Given the description of an element on the screen output the (x, y) to click on. 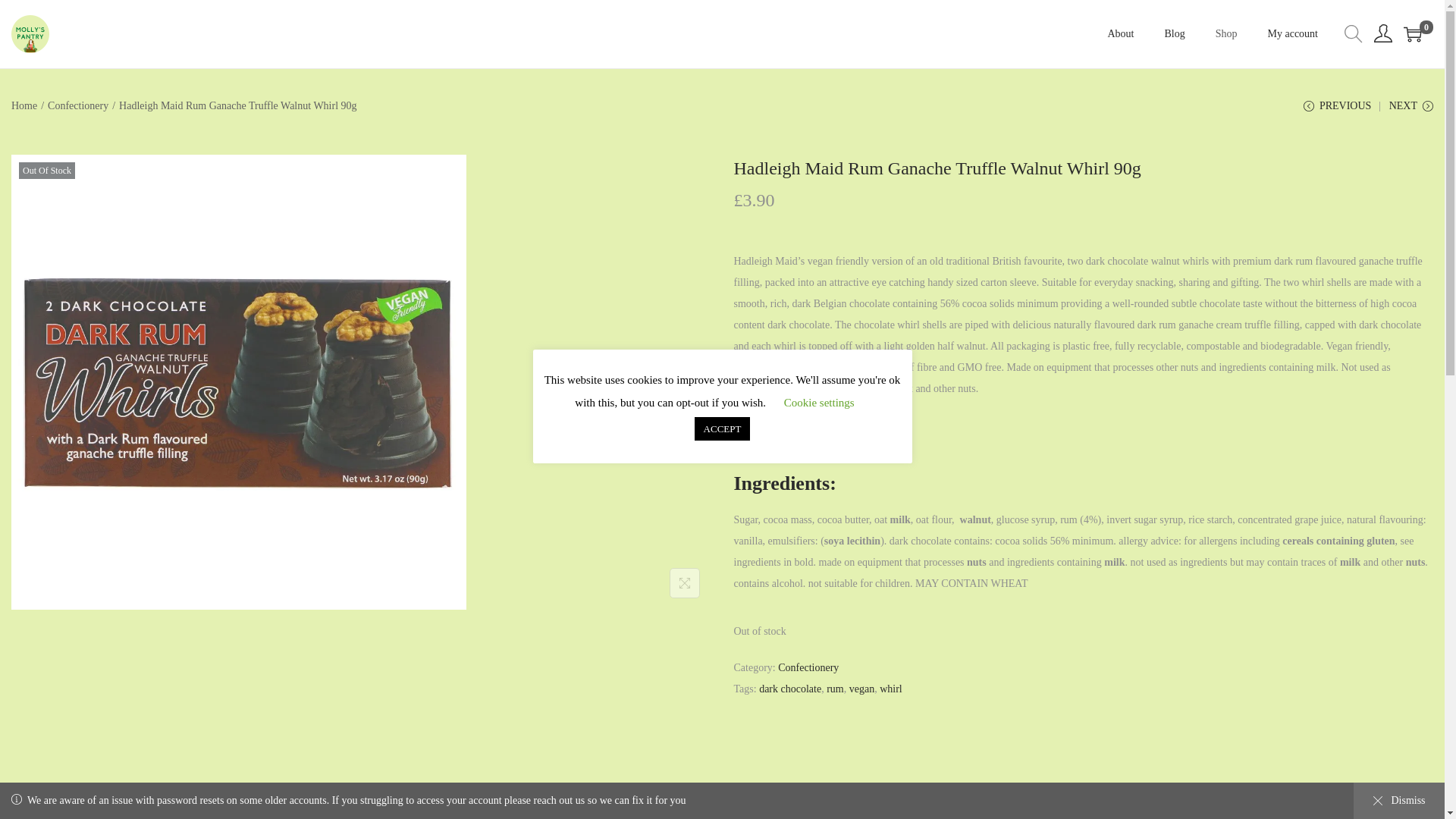
NEXT (1410, 111)
Description (665, 789)
Confectionery (807, 667)
rum (835, 688)
0 (1412, 34)
vegan (861, 688)
dark chocolate (789, 688)
PREVIOUS (1337, 111)
Home (24, 105)
